Given the description of an element on the screen output the (x, y) to click on. 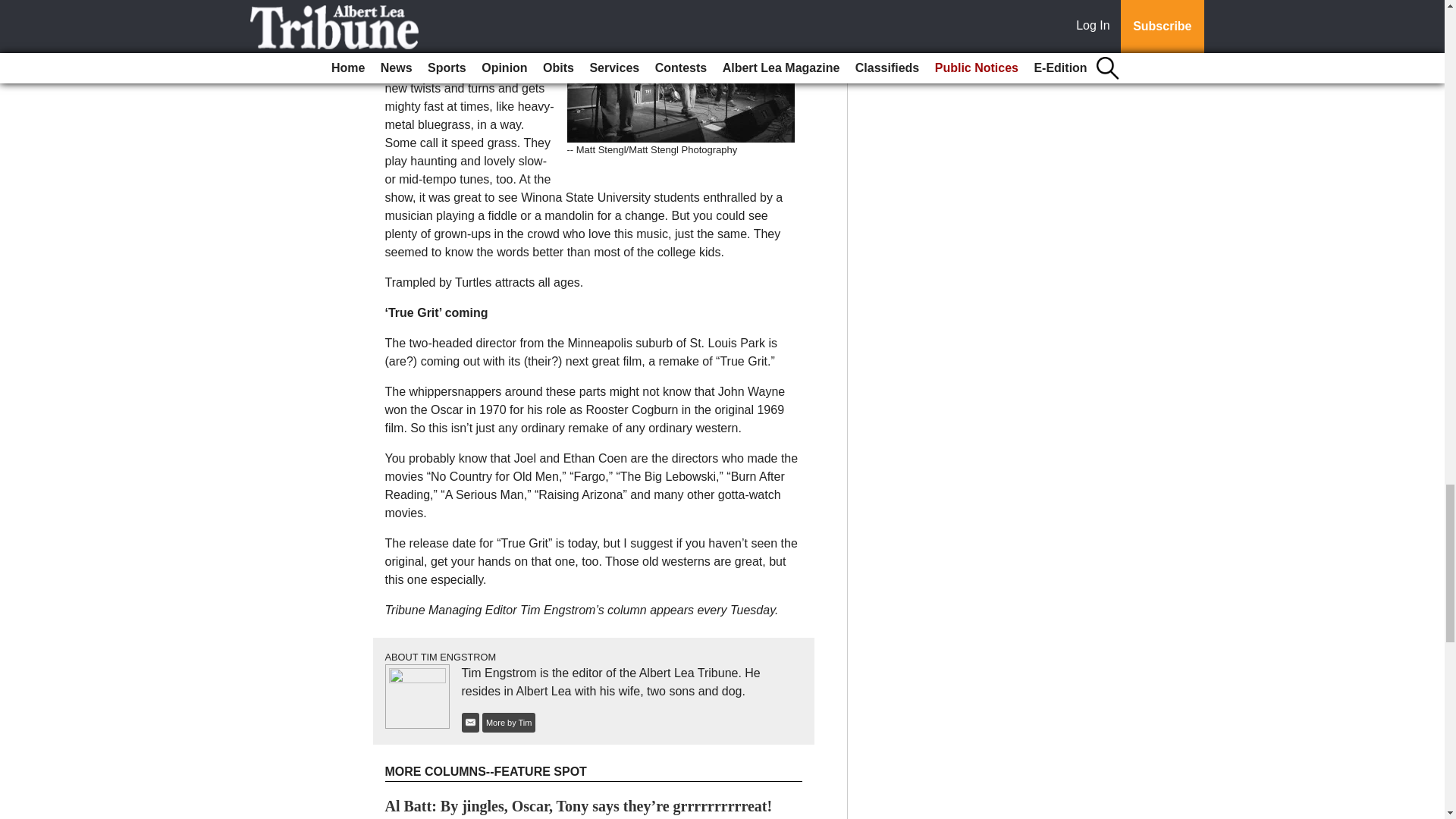
1221.trampled.turtles.3 (680, 71)
